Given the description of an element on the screen output the (x, y) to click on. 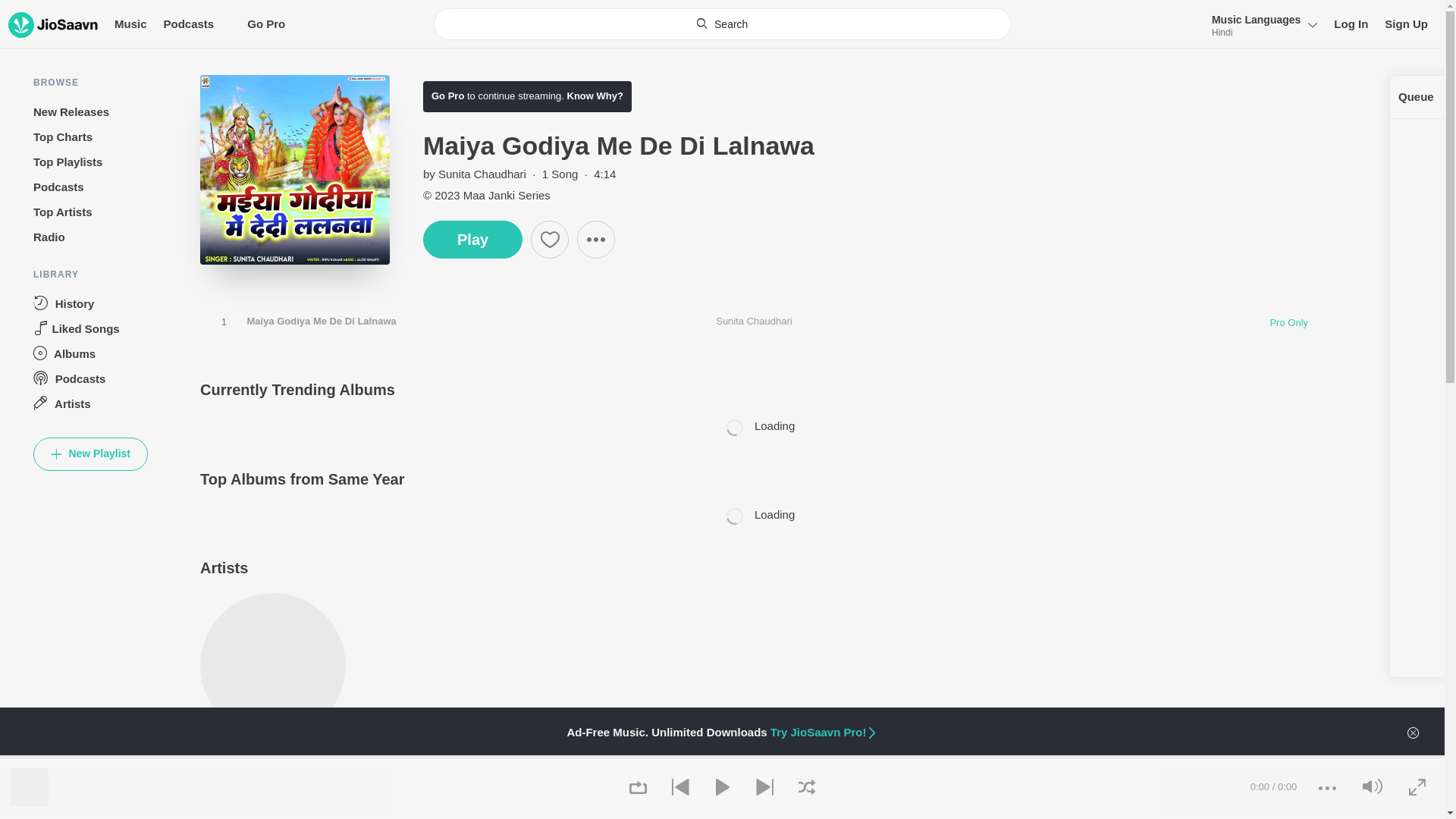
Go Pro (447, 95)
Sunita Chaudhari (481, 173)
Logo Button (52, 24)
Sign Up (1406, 23)
Podcasts (188, 23)
Know Why? (593, 95)
